Given the description of an element on the screen output the (x, y) to click on. 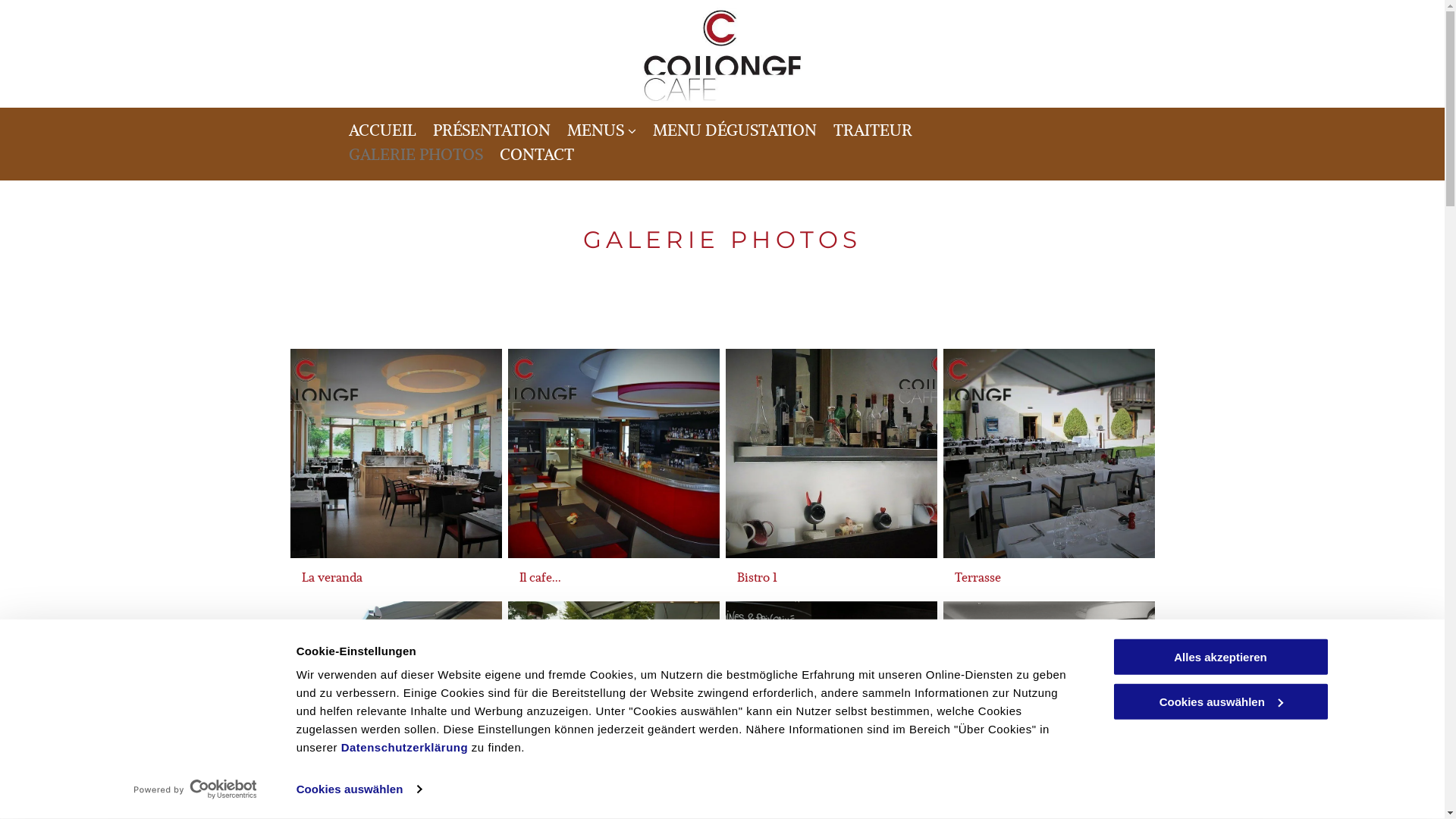
Alles akzeptieren Element type: text (1219, 656)
ACCUEIL Element type: text (382, 130)
Bistro 1 Element type: hover (830, 453)
MENUS Element type: text (601, 130)
La veranda Element type: hover (395, 453)
GALERIE PHOTOS Element type: text (415, 154)
Terrasse Element type: hover (395, 705)
TRAITEUR Element type: text (871, 130)
L'Equipe / Photo: Didiier Jordan Element type: hover (1048, 705)
CONTACT Element type: text (535, 154)
Terrasse Element type: hover (1048, 453)
Il cafe... Element type: hover (613, 453)
